Given the description of an element on the screen output the (x, y) to click on. 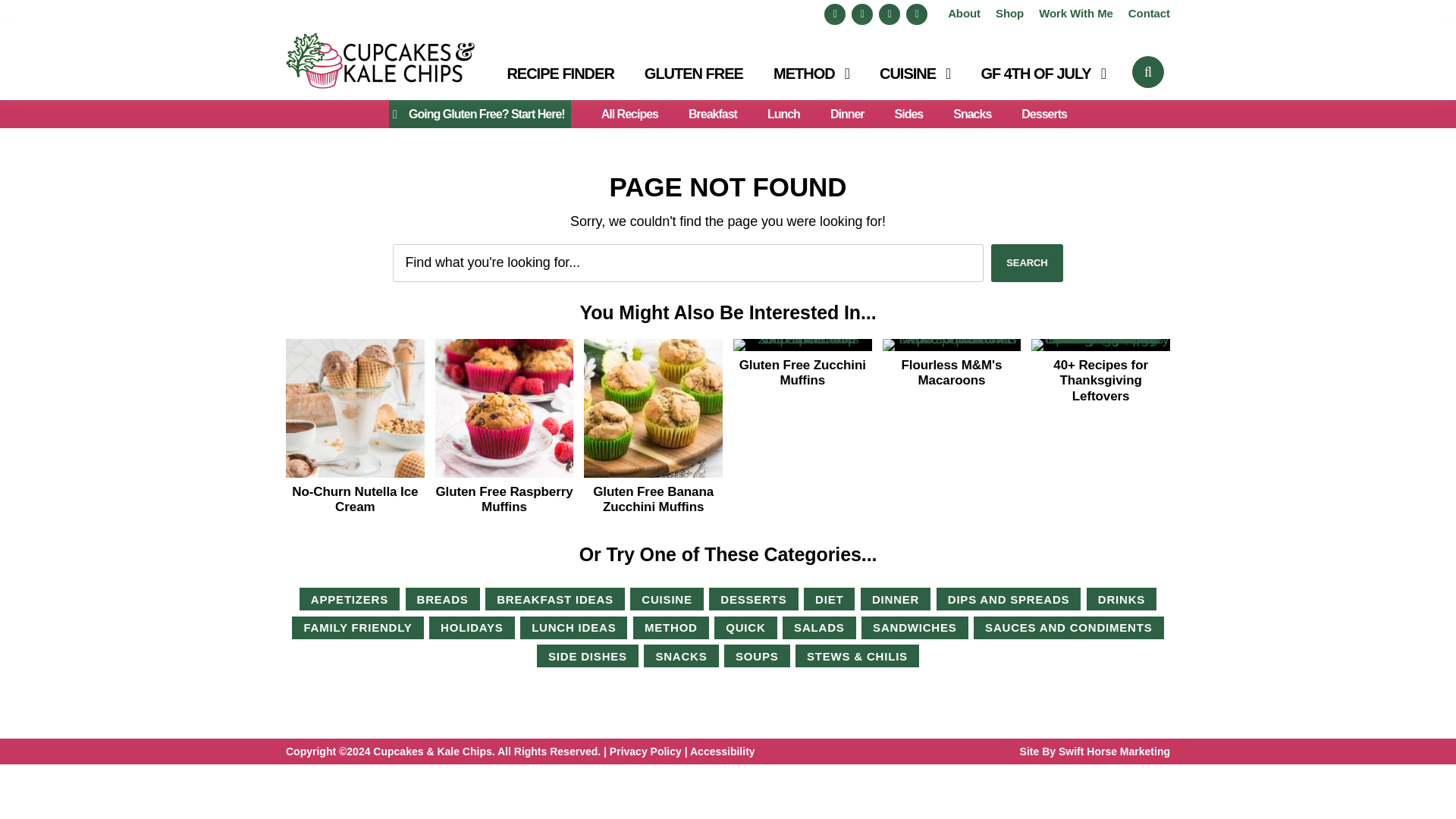
GLUTEN FREE (693, 79)
Instagram (916, 13)
Search (1026, 262)
Tiktok (889, 13)
Search (1026, 262)
Facebook (834, 13)
CUISINE (914, 79)
Work With Me (1076, 12)
GF 4TH OF JULY (1042, 79)
Contact (1149, 12)
